Given the description of an element on the screen output the (x, y) to click on. 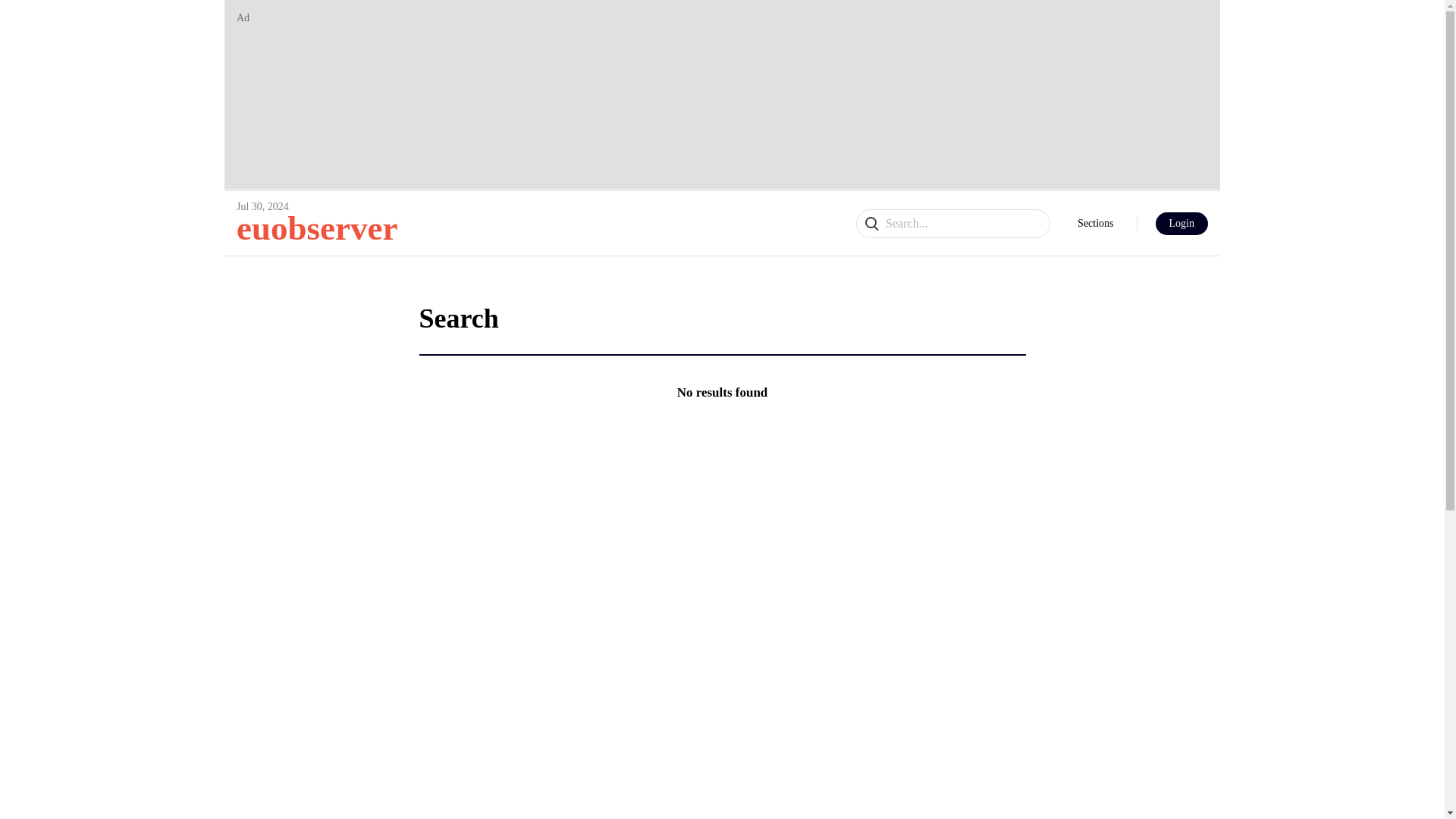
Sections (1095, 223)
euobserver (316, 227)
Login (1182, 223)
